Given the description of an element on the screen output the (x, y) to click on. 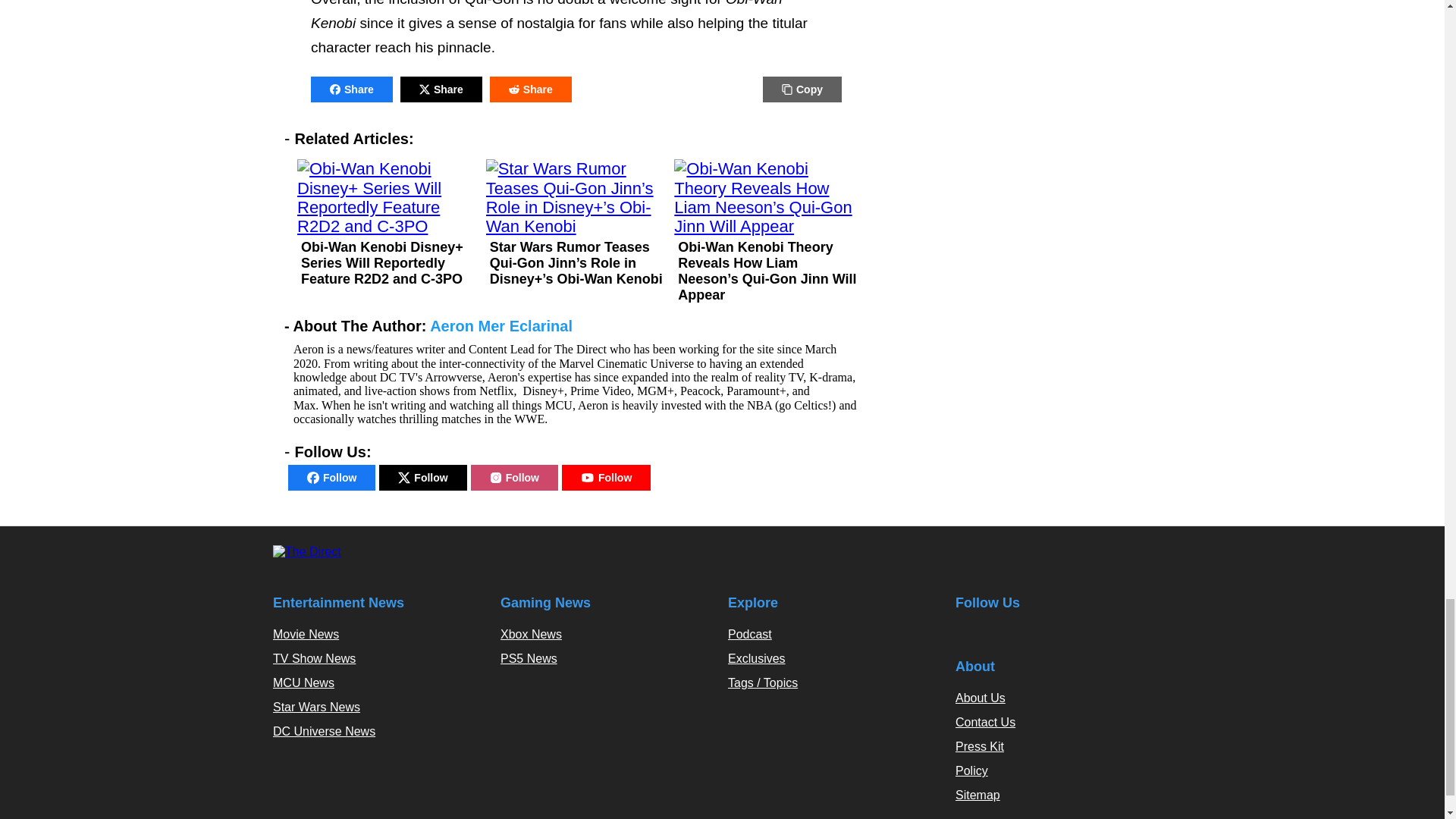
Share on Reddit (530, 89)
